Given the description of an element on the screen output the (x, y) to click on. 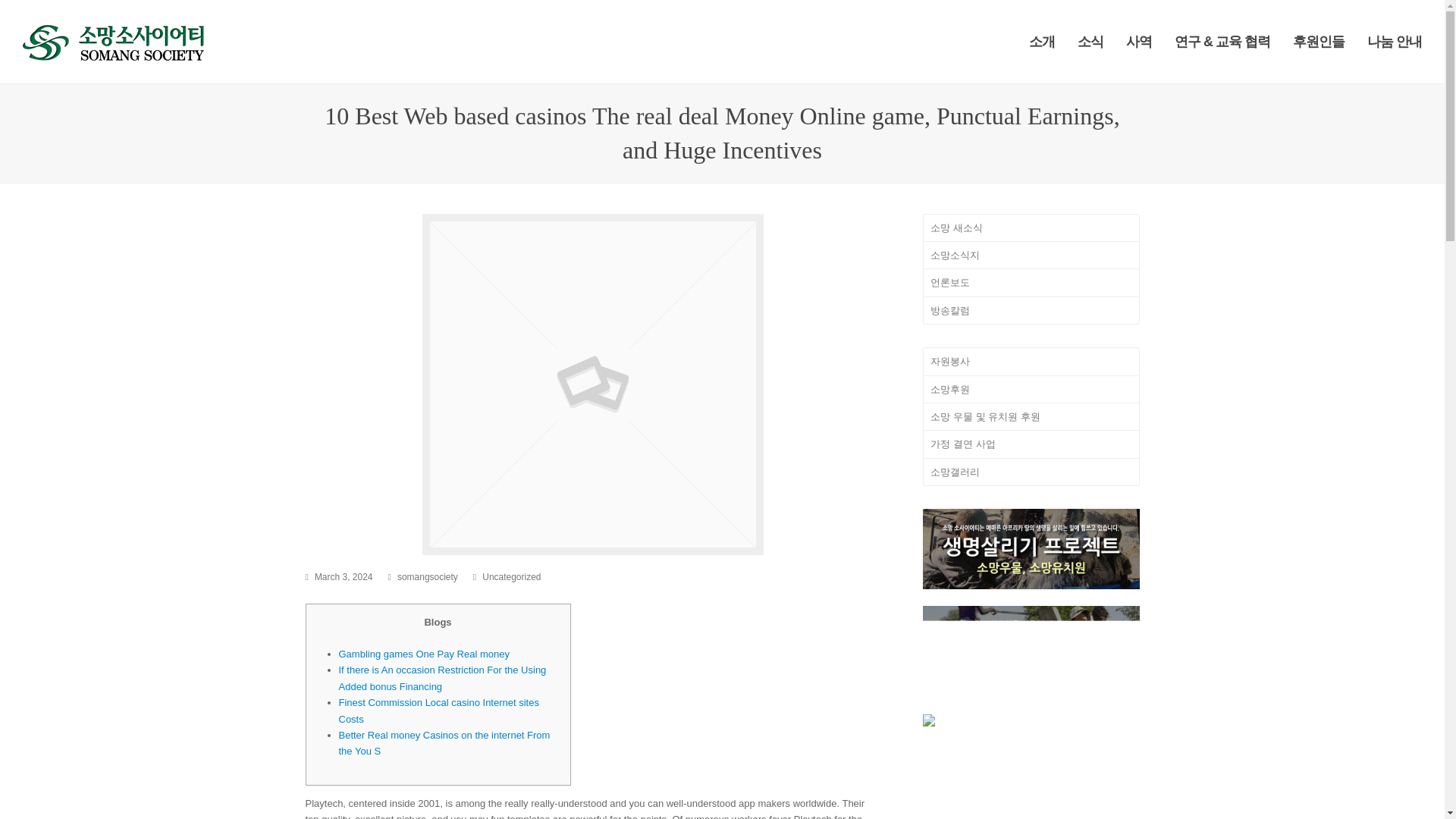
Posts by somangsociety (427, 576)
Uncategorized (510, 576)
Enlarge Image (592, 384)
Uncategorized (510, 576)
somangsociety (427, 576)
Gambling games One Pay Real money (422, 654)
